Given the description of an element on the screen output the (x, y) to click on. 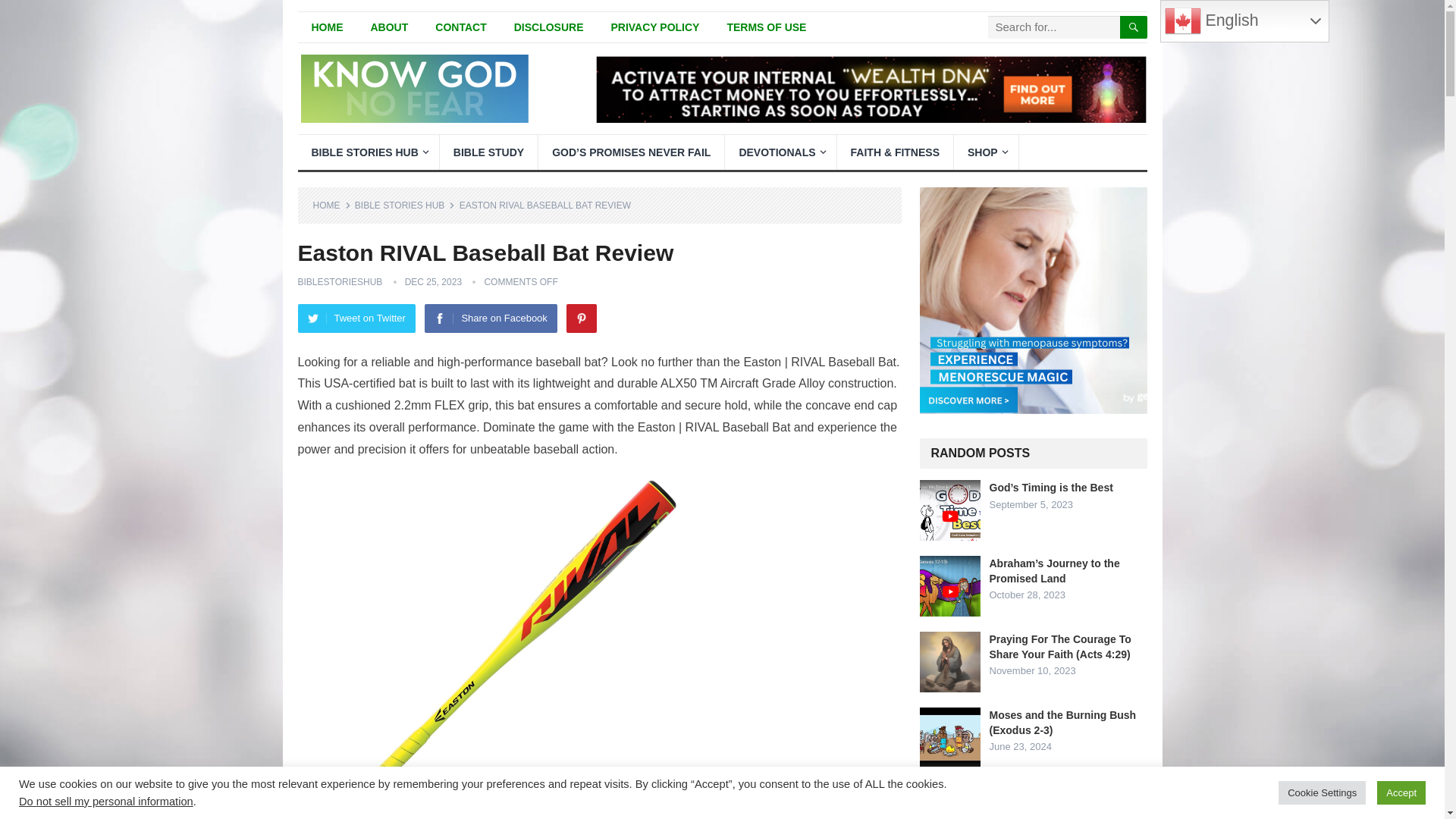
Posts by biblestorieshub (339, 281)
HOME (331, 204)
DEVOTIONALS (780, 152)
ABOUT (389, 27)
BIBLESTORIESHUB (339, 281)
HOME (326, 27)
CONTACT (460, 27)
View all posts in Bible Stories Hub (404, 204)
DISCLOSURE (548, 27)
Share on Facebook (490, 317)
